Given the description of an element on the screen output the (x, y) to click on. 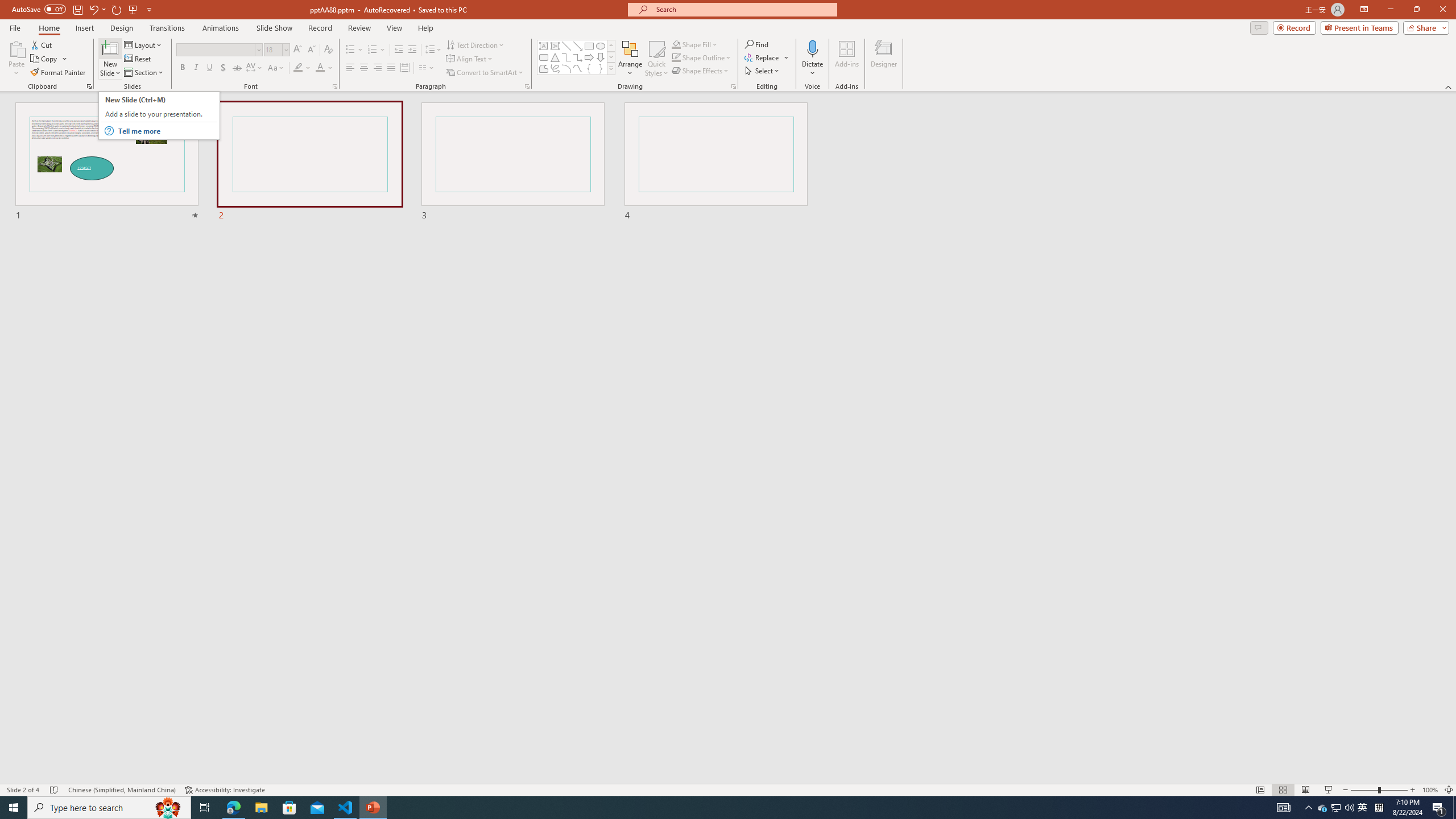
Font... (334, 85)
Columns (426, 67)
Text Highlight Color Yellow (297, 67)
AutoSave (38, 9)
Quick Access Toolbar (82, 9)
Find... (756, 44)
Italic (195, 67)
Isosceles Triangle (554, 57)
Oval (600, 45)
Slide (715, 161)
Customize Quick Access Toolbar (149, 9)
Layout (143, 44)
Text Highlight Color (302, 67)
